Given the description of an element on the screen output the (x, y) to click on. 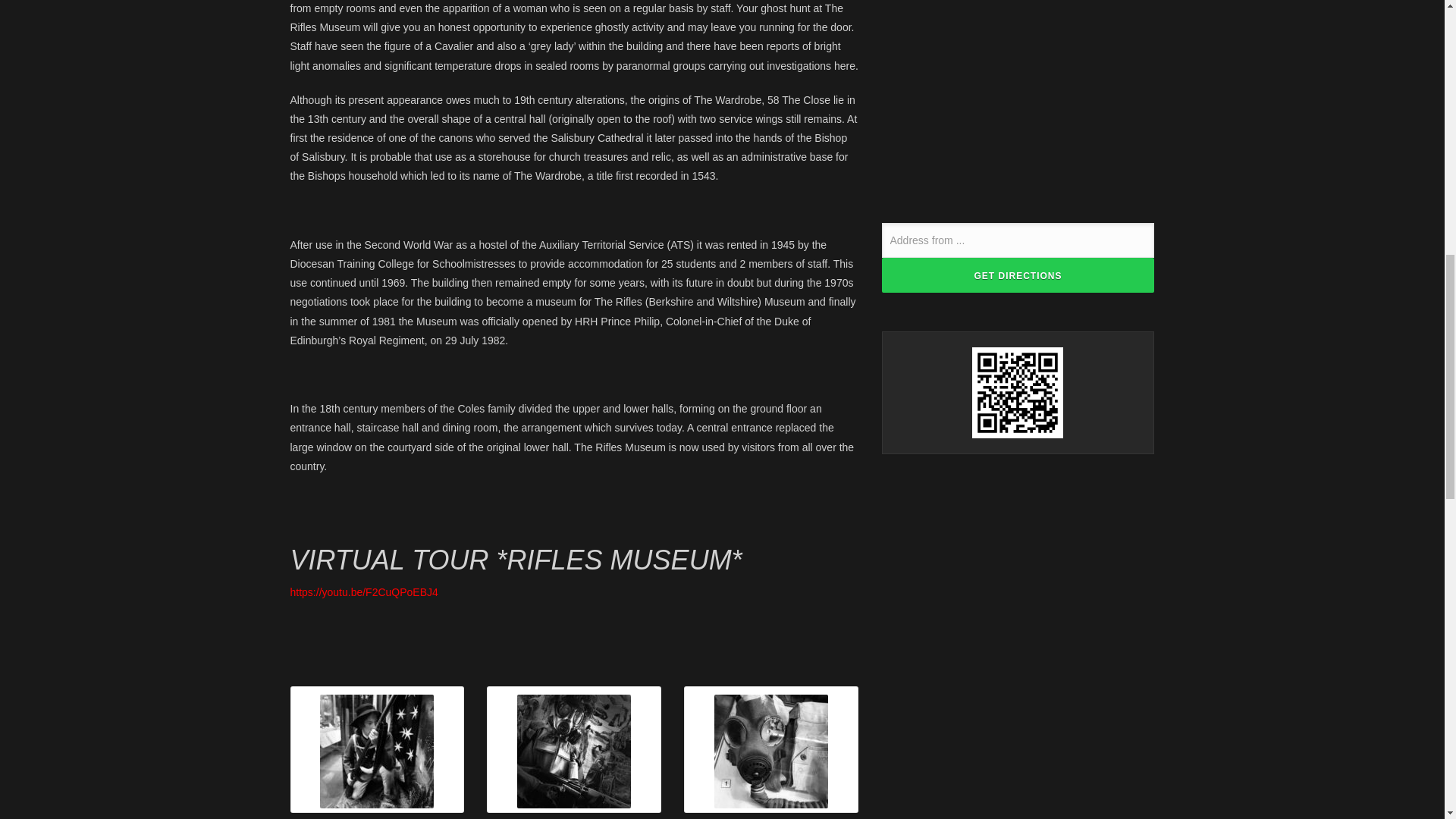
Get Directions (1017, 274)
